Given the description of an element on the screen output the (x, y) to click on. 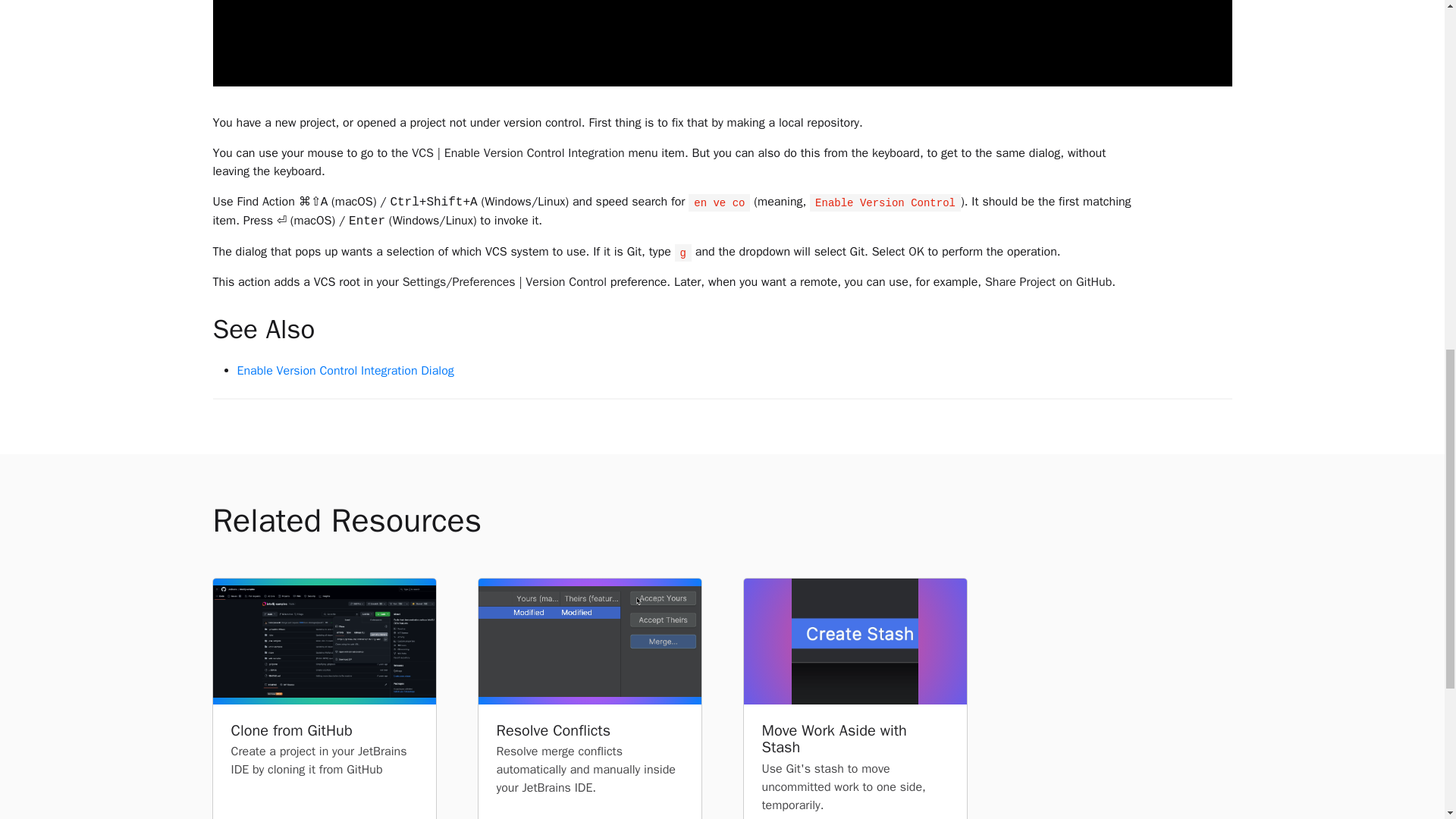
Enable Version Control Integration Dialog (343, 370)
Clone from GitHub (323, 731)
Resolve Conflicts (589, 731)
Move Work Aside with Stash (854, 739)
